Given the description of an element on the screen output the (x, y) to click on. 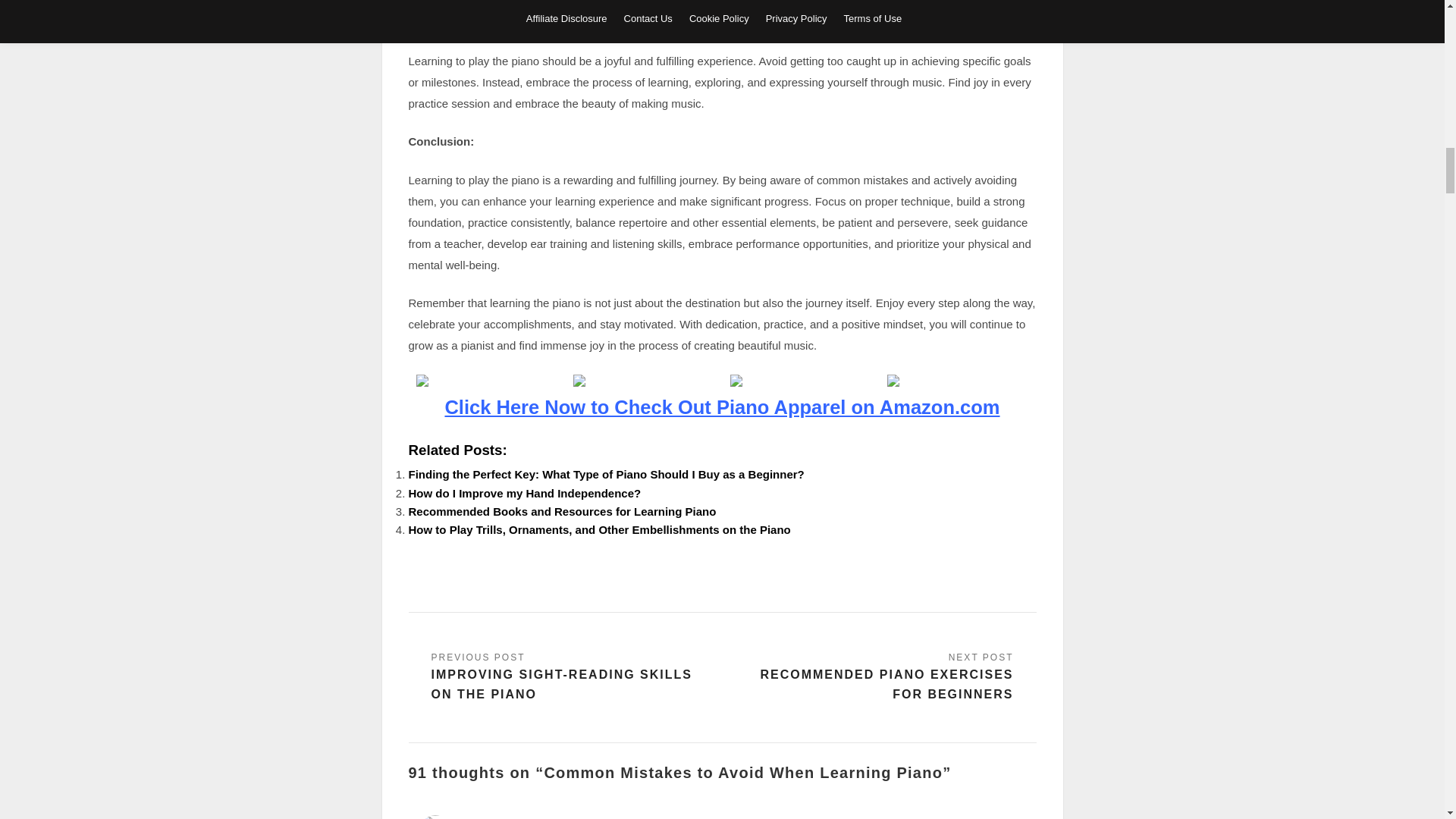
REPLY (1021, 818)
How do I Improve my Hand Independence? (523, 492)
Recommended Books and Resources for Learning Piano (561, 511)
IMPROVING SIGHT-READING SKILLS ON THE PIANO (567, 677)
How do I Improve my Hand Independence? (523, 492)
Recommended Books and Resources for Learning Piano (561, 511)
RECOMMENDED PIANO EXERCISES FOR BEGINNERS (877, 677)
